Given the description of an element on the screen output the (x, y) to click on. 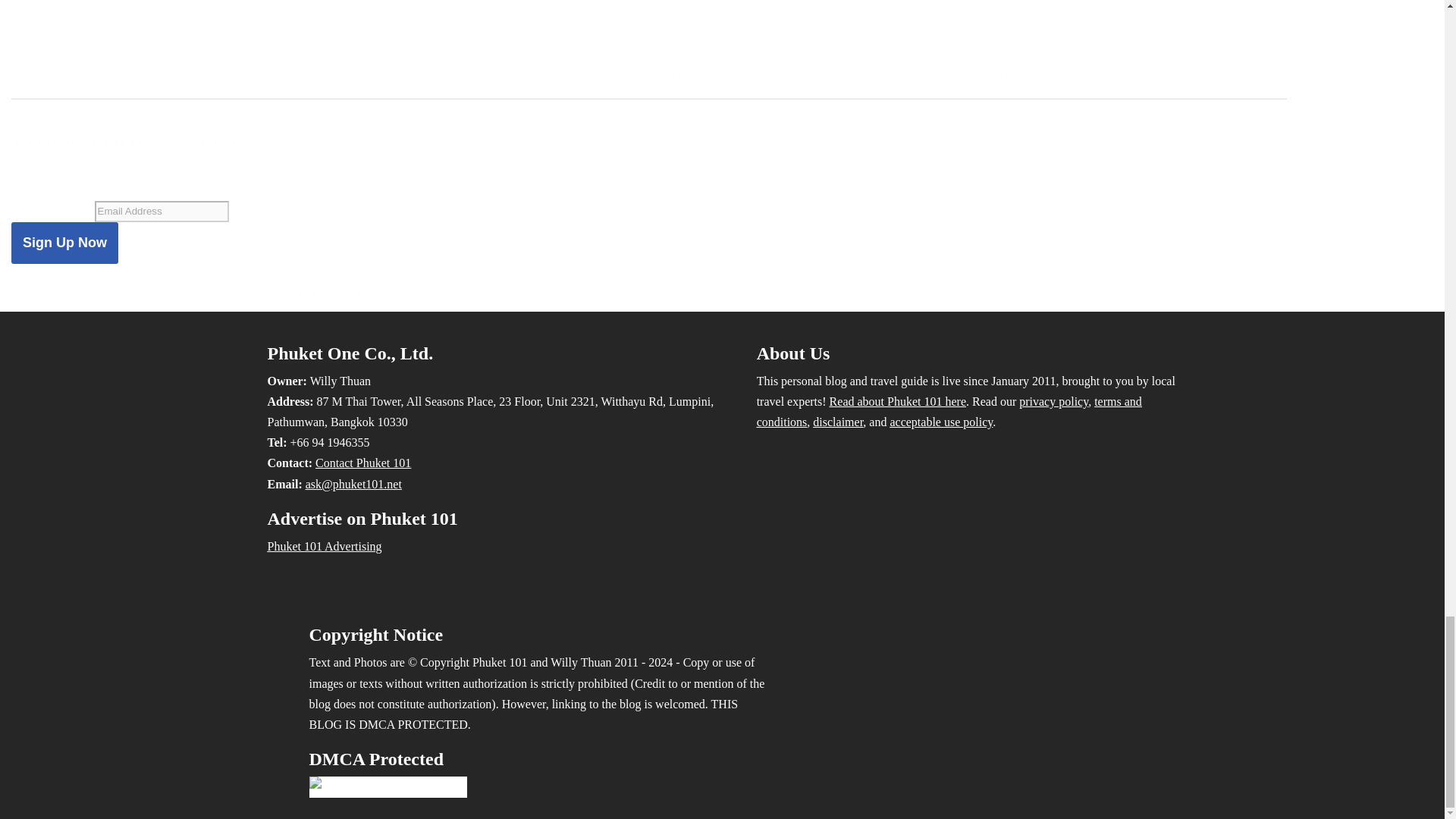
DMCA.com Protection Status (387, 786)
Sign Up Now (64, 242)
